Given the description of an element on the screen output the (x, y) to click on. 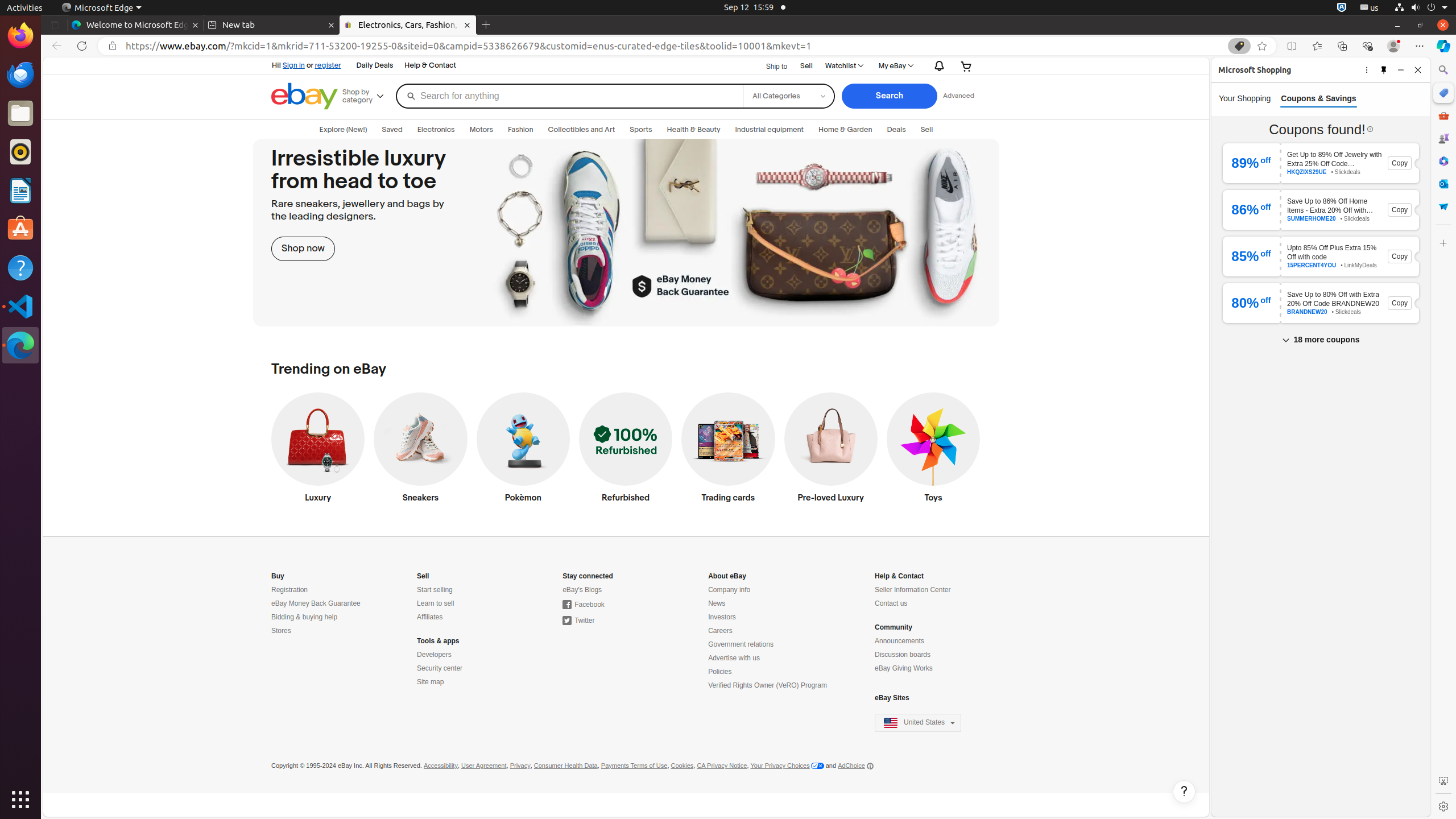
Saved Element type: link (391, 129)
Games Element type: push-button (1443, 137)
Stores Element type: link (281, 630)
Accessibility Element type: link (440, 765)
Announcements Element type: link (899, 640)
